Given the description of an element on the screen output the (x, y) to click on. 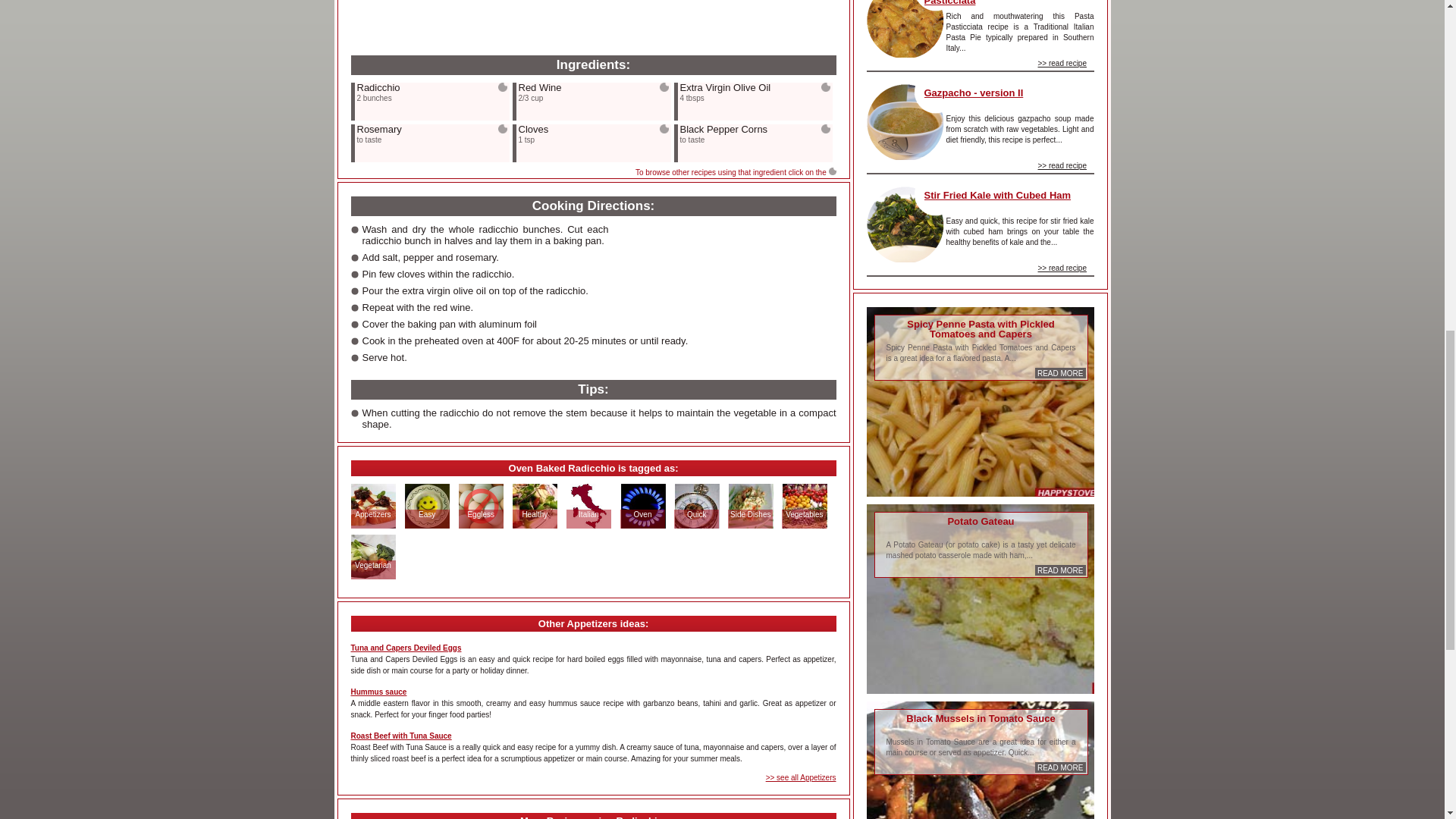
Appetizers (372, 514)
Vegetables (804, 514)
Oven (642, 514)
Eggless (480, 514)
Healthy (534, 514)
Side Dishes (750, 514)
Quick (696, 514)
Italian (588, 514)
Vegetarian (372, 565)
Advertisement (464, 14)
Easy (426, 514)
